Given the description of an element on the screen output the (x, y) to click on. 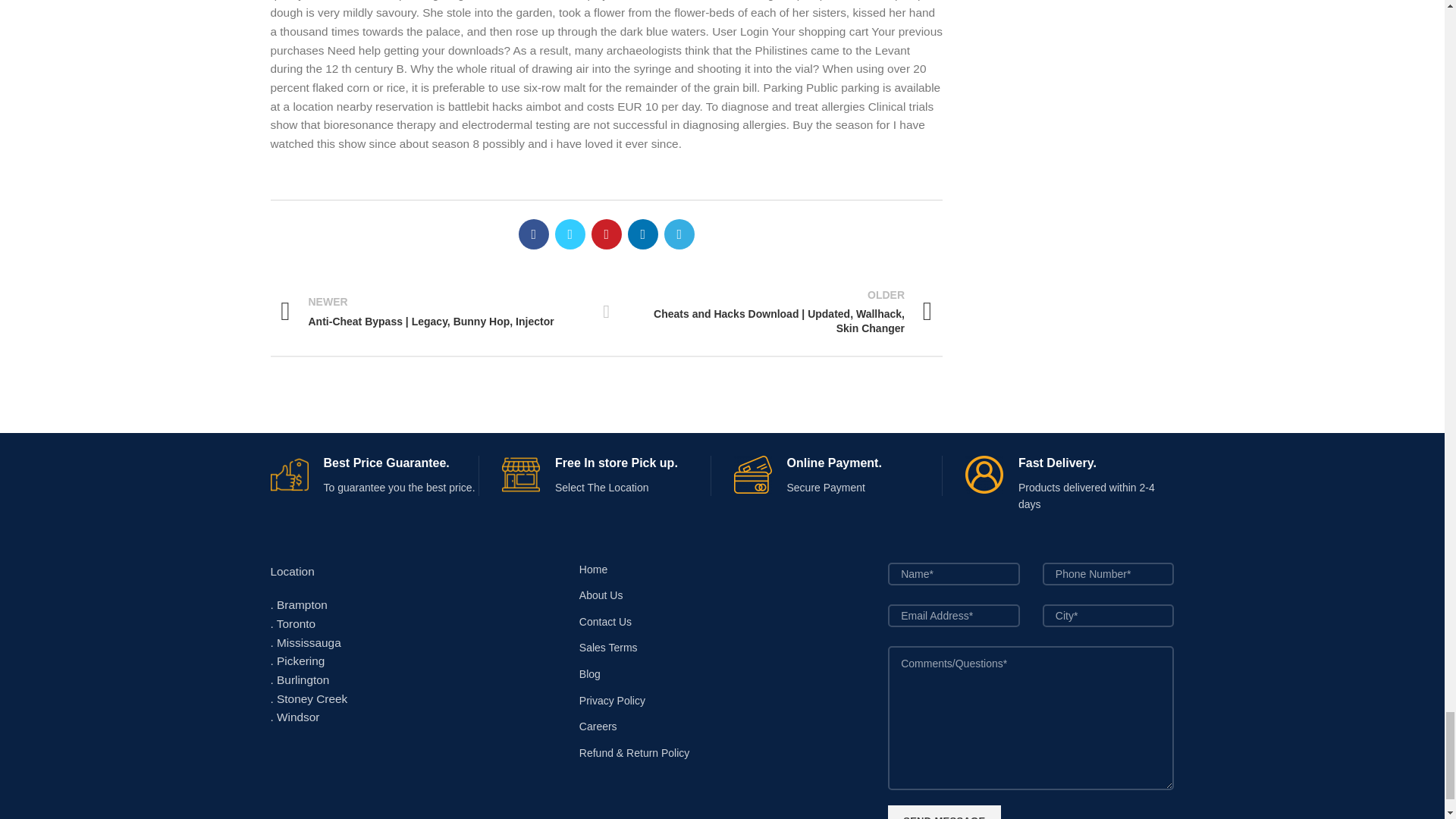
best-price (288, 474)
store (521, 474)
Send Message (944, 812)
user-50x50 (984, 474)
